Given the description of an element on the screen output the (x, y) to click on. 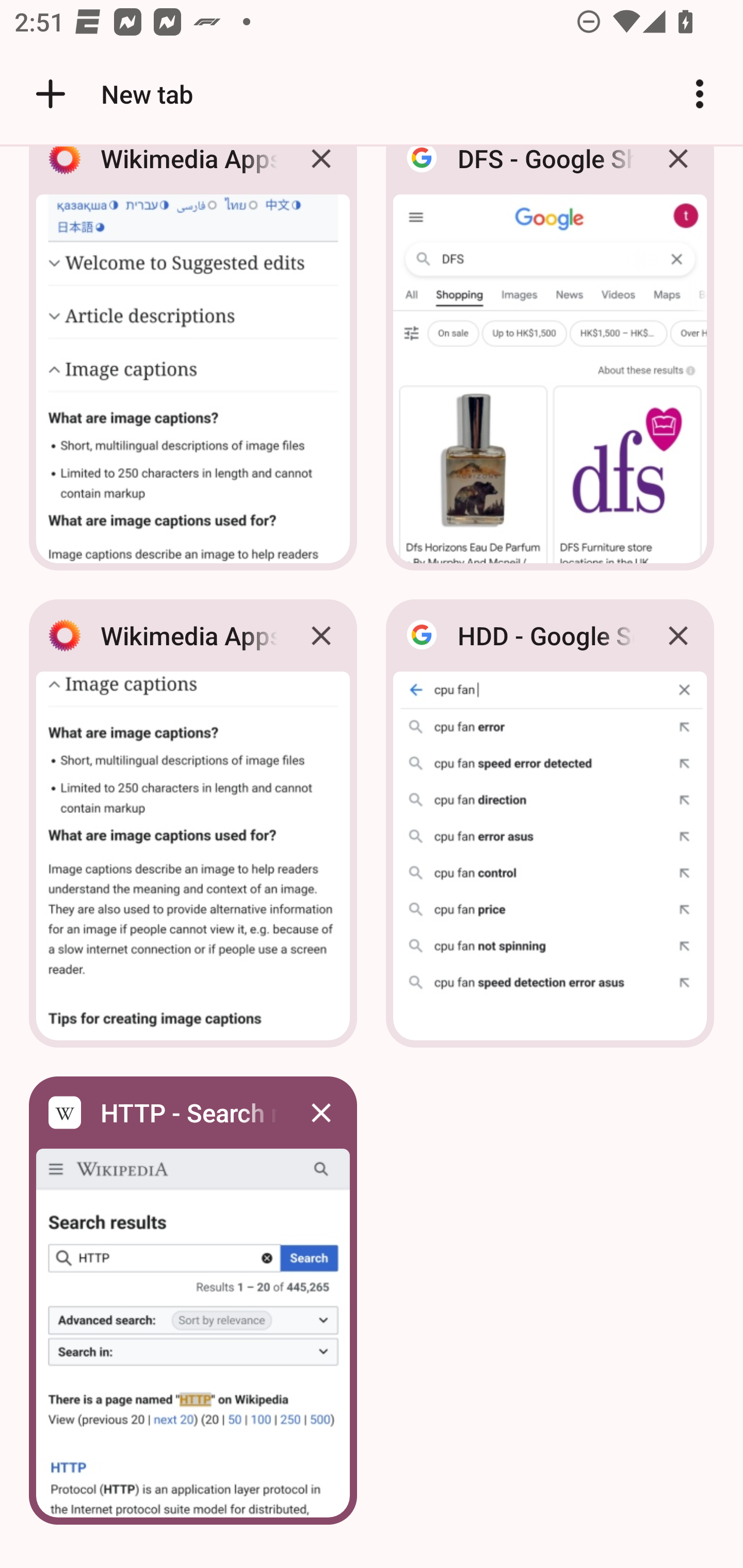
New tab (111, 93)
Customize and control Google Chrome (699, 93)
Close DFS - Google Shopping tab (677, 173)
Close HDD - Google Search tab (677, 635)
Close HTTP - Search results - Wikipedia tab (320, 1112)
